Given the description of an element on the screen output the (x, y) to click on. 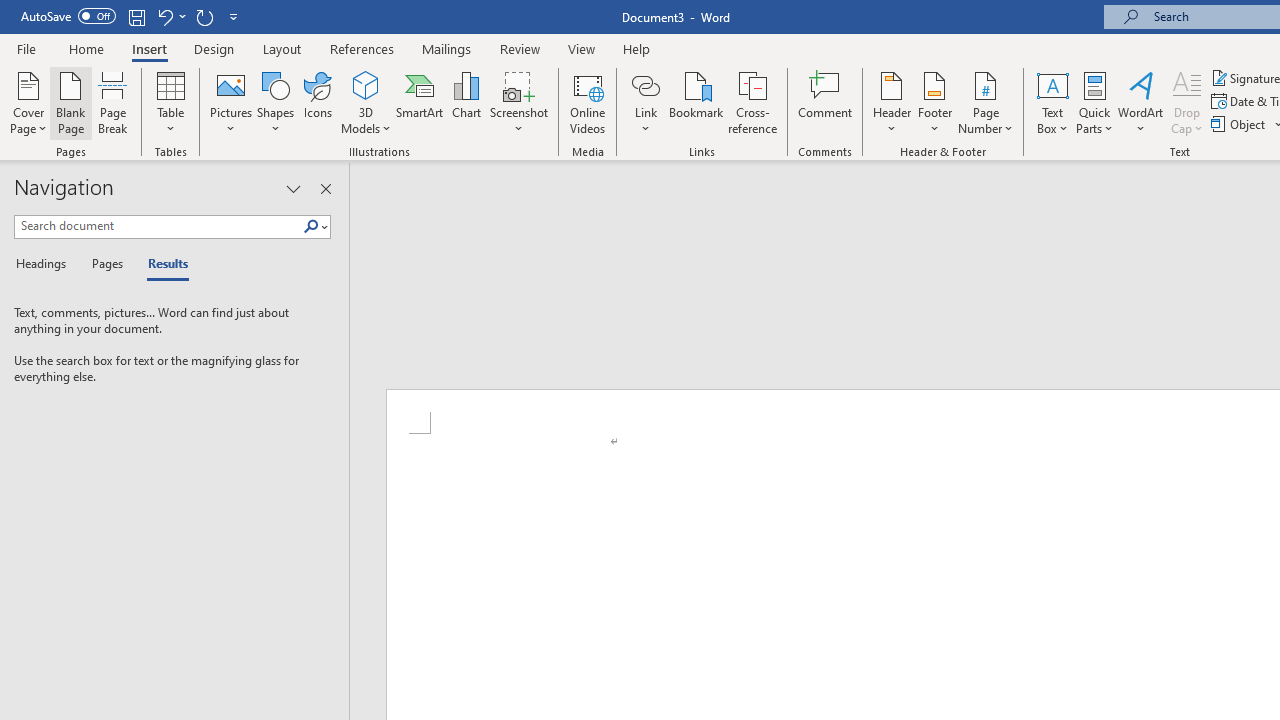
Screenshot (518, 102)
Undo New Page (164, 15)
Undo New Page (170, 15)
Comment (825, 102)
Object... (1240, 124)
Pictures (230, 102)
